Given the description of an element on the screen output the (x, y) to click on. 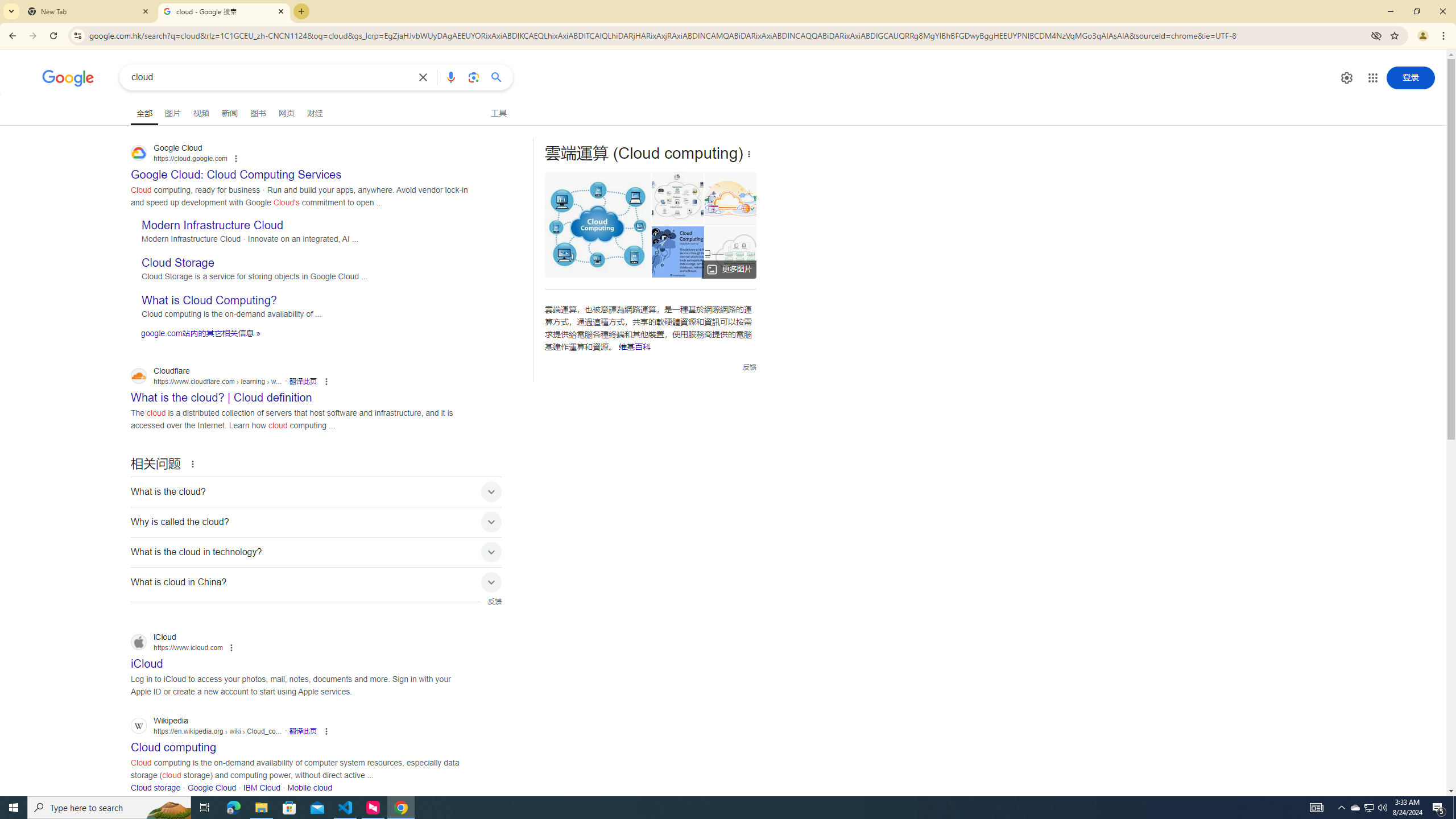
Cloud Storage (177, 262)
New Tab (88, 11)
What Is Cloud Computing? (677, 251)
What Is Cloud Computing? (678, 251)
